Given the description of an element on the screen output the (x, y) to click on. 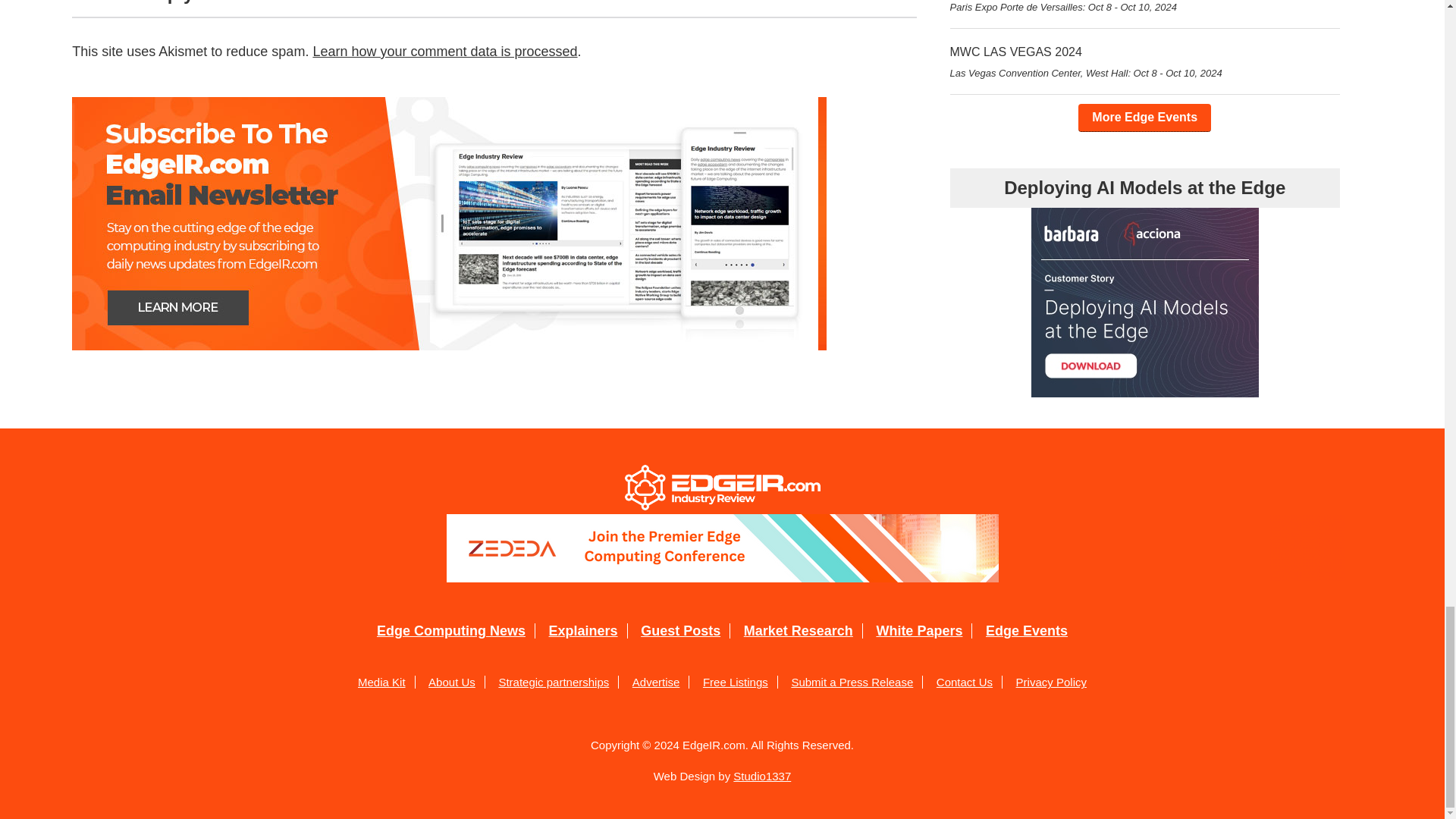
3rd party ad content (722, 548)
